Given the description of an element on the screen output the (x, y) to click on. 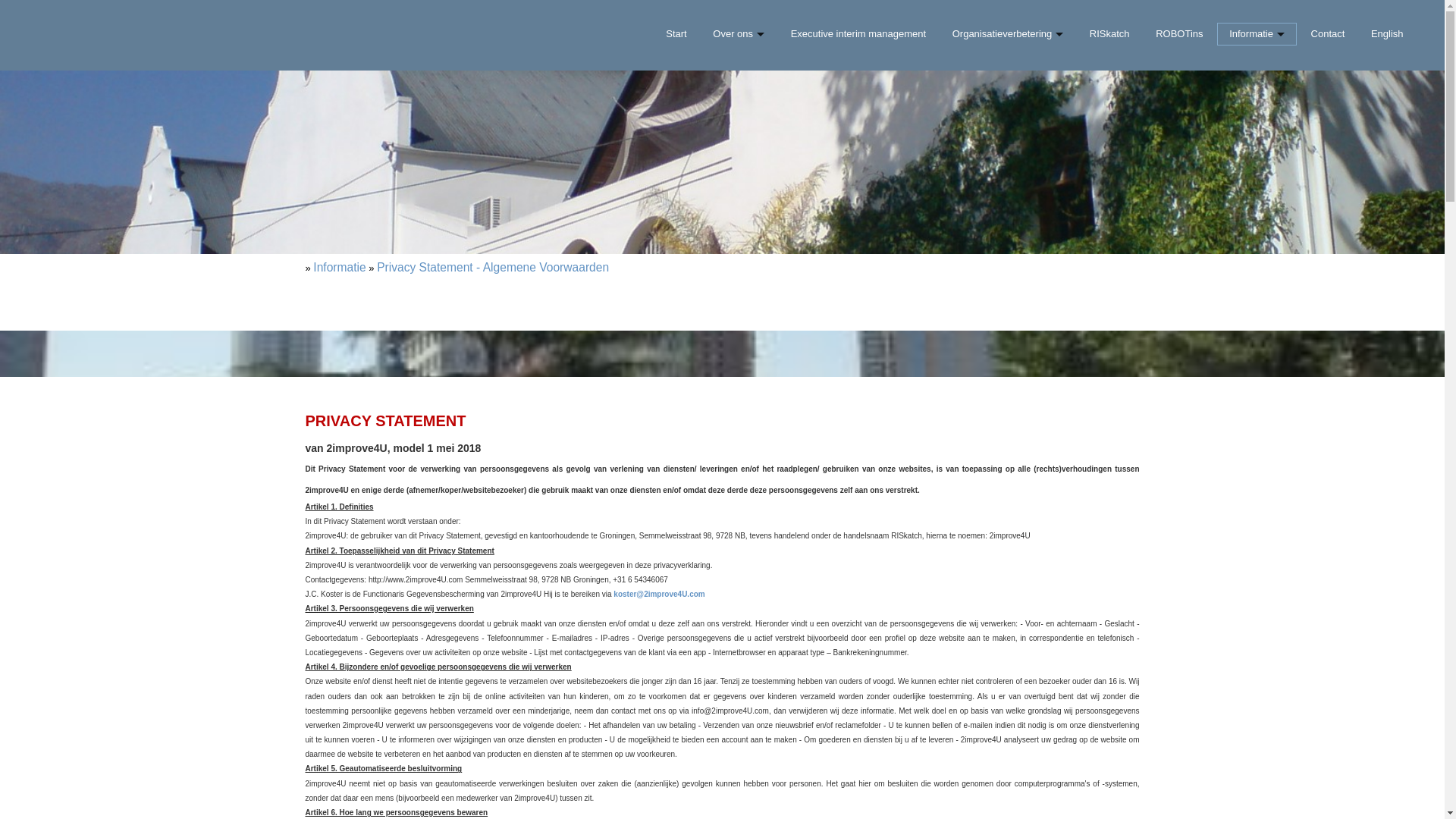
Contact Element type: text (1327, 33)
Executive interim management Element type: text (857, 33)
Informatie Element type: text (1256, 33)
Informatie Element type: text (339, 266)
Privacy Statement - Algemene Voorwaarden Element type: text (492, 266)
Start Element type: text (676, 33)
Organisatieverbetering Element type: text (1007, 33)
koster@2improve4U.com Element type: text (658, 593)
ROBOTins Element type: text (1179, 33)
RISkatch Element type: text (1109, 33)
Over ons Element type: text (738, 33)
English Element type: text (1387, 33)
